Given the description of an element on the screen output the (x, y) to click on. 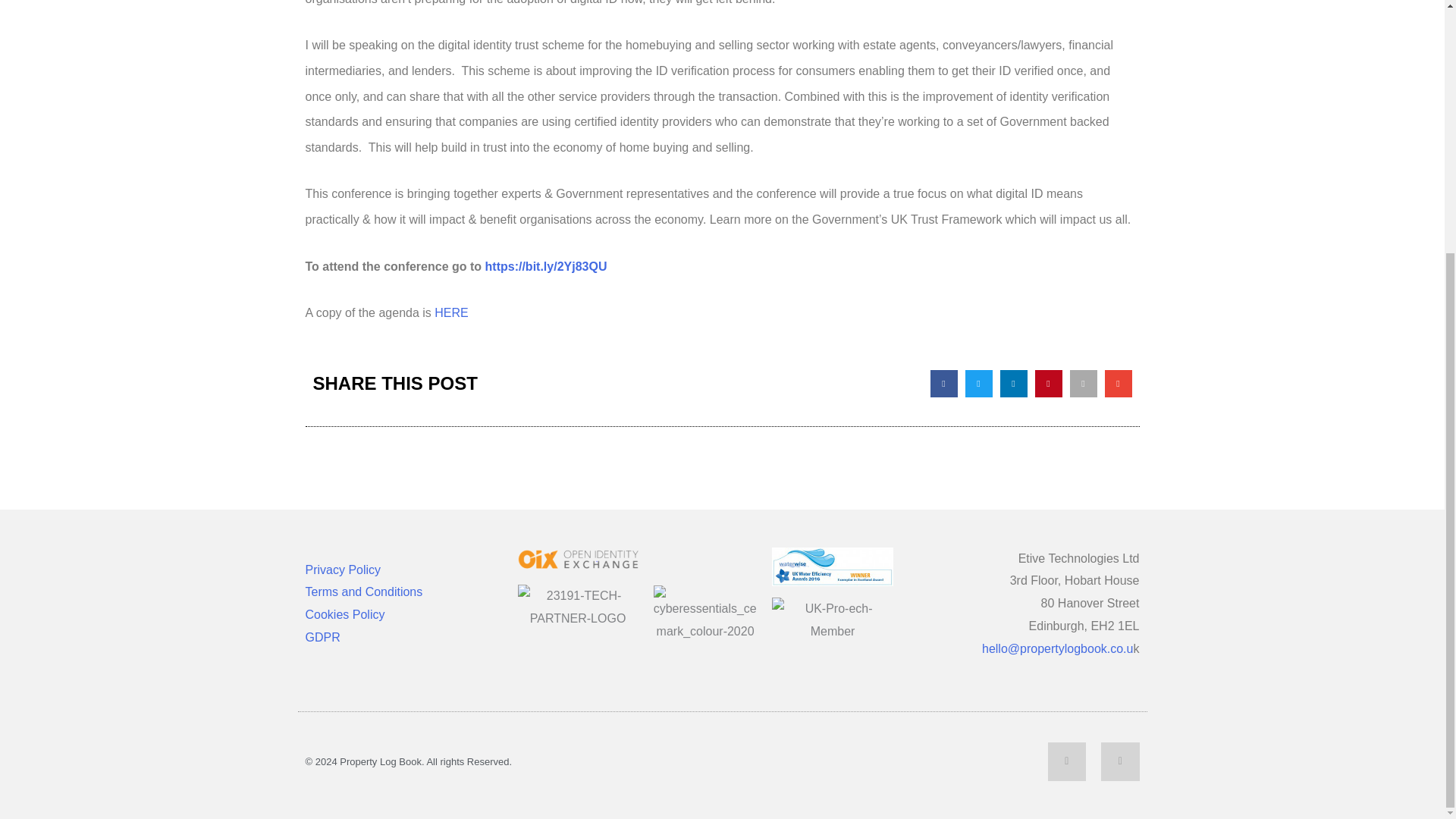
GDPR (321, 636)
UK-Pro-ech-Member (831, 619)
Privacy Policy (342, 569)
Youtube (1119, 761)
Linkedin-in (1067, 761)
Cookies Policy (344, 614)
23191-TECH-PARTNER-LOGO (576, 606)
HERE (450, 312)
Terms and Conditions (363, 591)
